Given the description of an element on the screen output the (x, y) to click on. 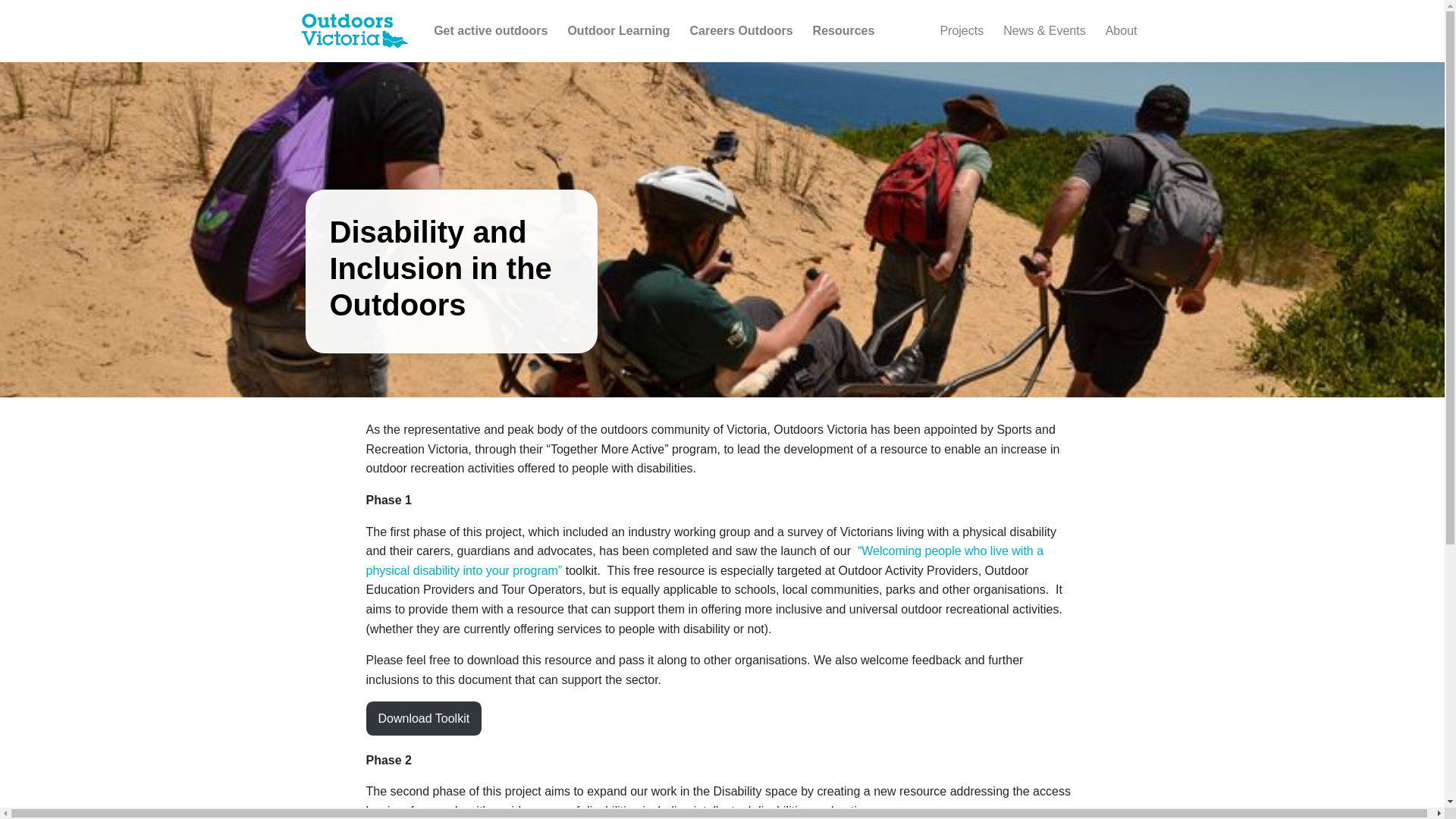
Projects (961, 30)
Download Toolkit (423, 717)
Outdoor Learning (617, 30)
Outdoor Learning (617, 30)
About (1120, 30)
Get active outdoors (490, 30)
About (1120, 30)
Resources (843, 30)
Resources (843, 30)
Projects (961, 30)
Get active outdoors (490, 30)
Careers Outdoors (741, 30)
Careers Outdoors (741, 30)
